Given the description of an element on the screen output the (x, y) to click on. 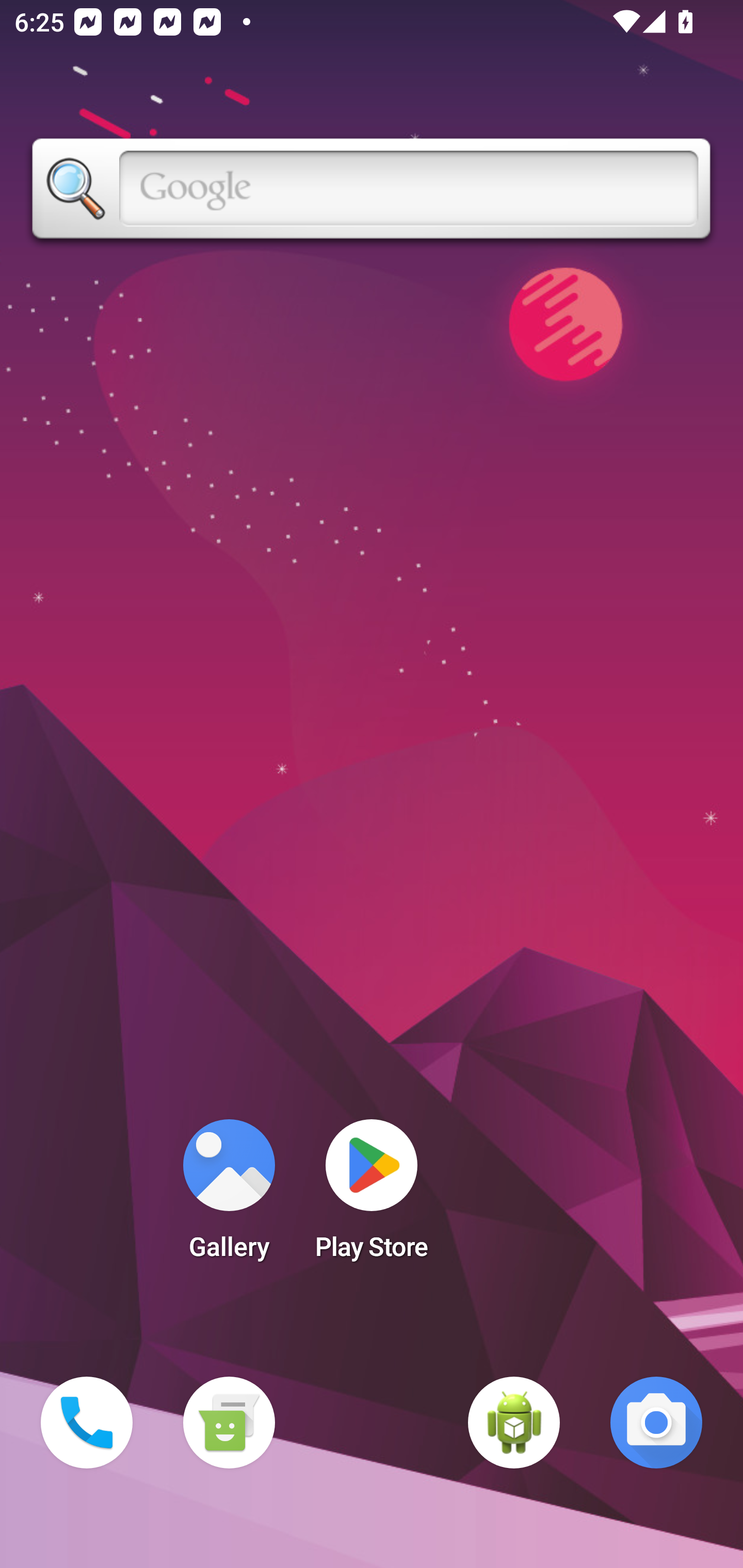
Gallery (228, 1195)
Play Store (371, 1195)
Phone (86, 1422)
Messaging (228, 1422)
WebView Browser Tester (513, 1422)
Camera (656, 1422)
